Given the description of an element on the screen output the (x, y) to click on. 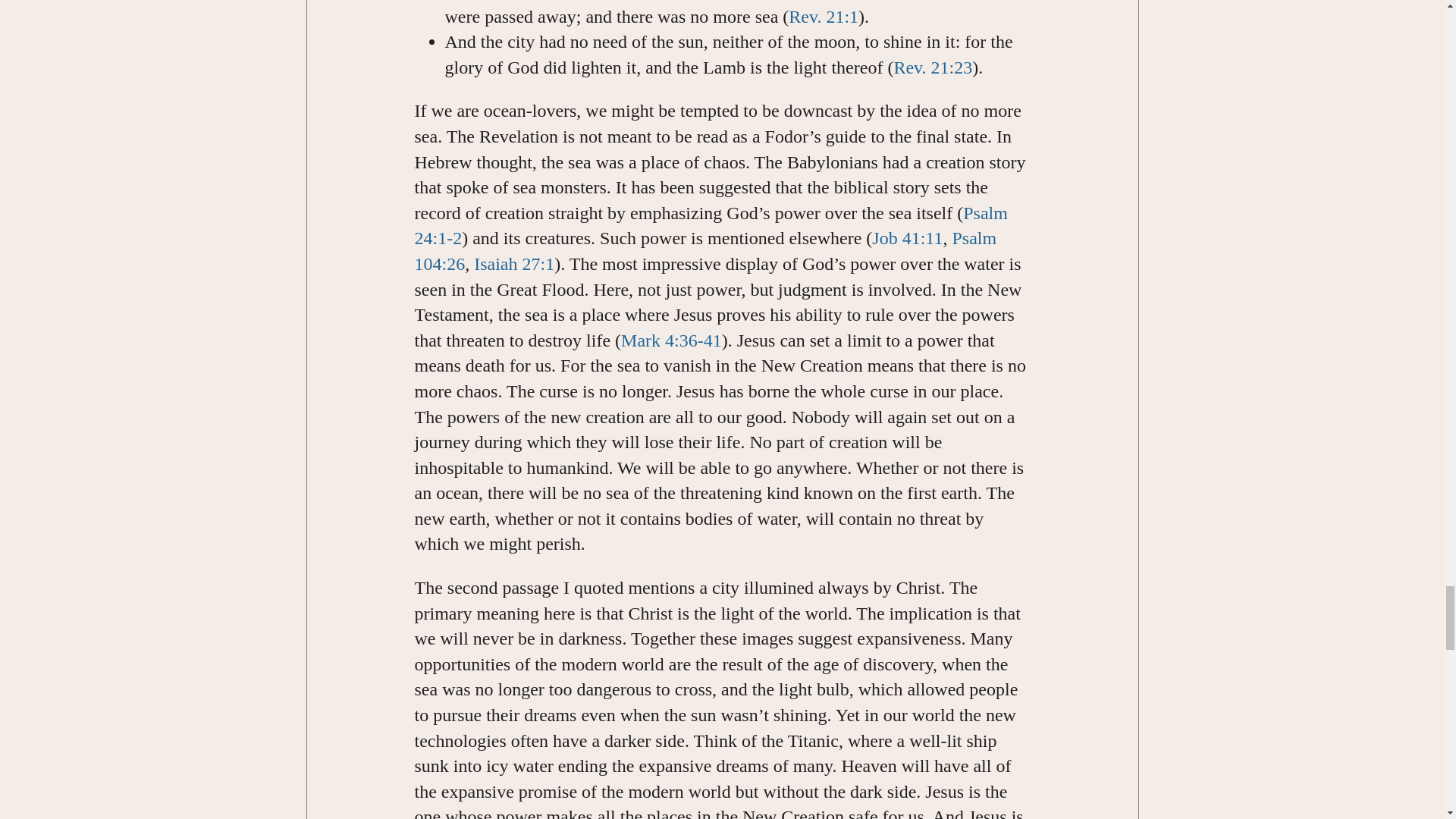
Mark 4:36-41 (671, 340)
Job 41:11 (907, 238)
Isaiah 27:1 (514, 263)
Rev. 21:1 (824, 16)
Psalm 104:26 (704, 250)
Rev. 21:23 (932, 66)
Psalm 24:1-2 (710, 225)
